Given the description of an element on the screen output the (x, y) to click on. 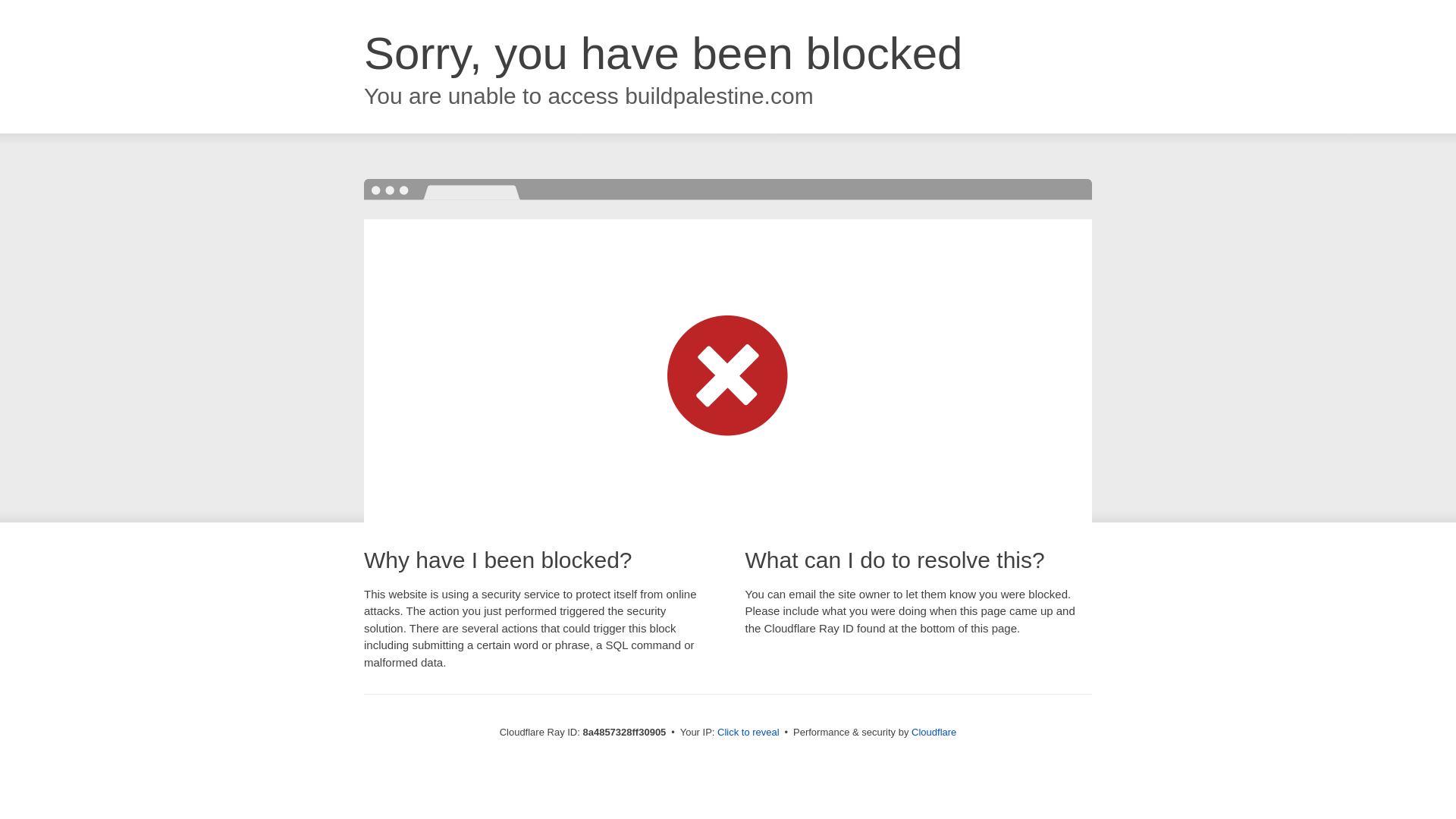
Cloudflare (933, 731)
Click to reveal (747, 732)
